Given the description of an element on the screen output the (x, y) to click on. 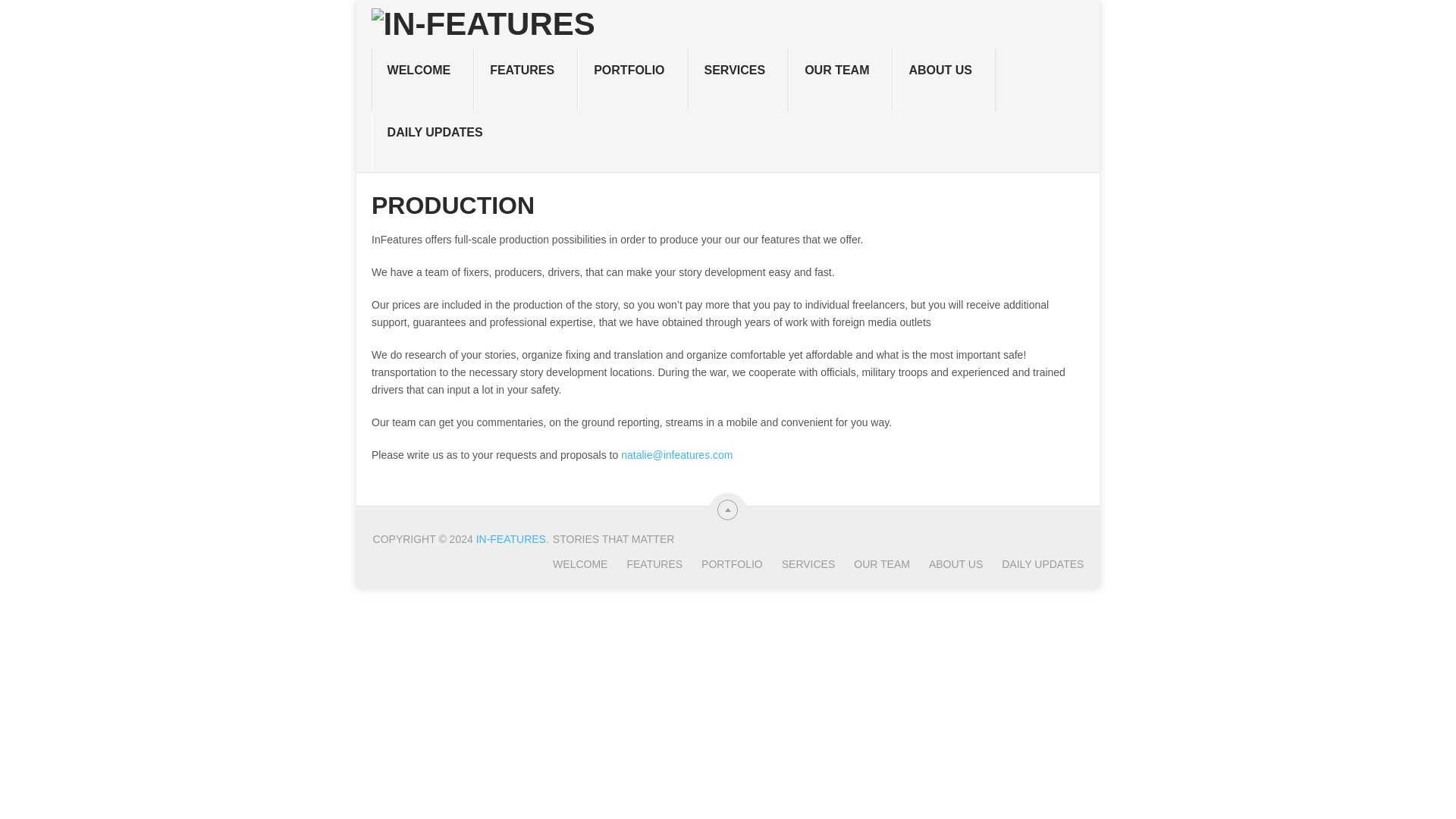
FEATURES (644, 563)
DAILY UPDATES (1032, 563)
WELCOME (422, 79)
IN-FEATURES (511, 539)
DAILY UPDATES (438, 141)
ABOUT US (946, 563)
ABOUT US (943, 79)
SERVICES (738, 79)
OUR TEAM (872, 563)
